Given the description of an element on the screen output the (x, y) to click on. 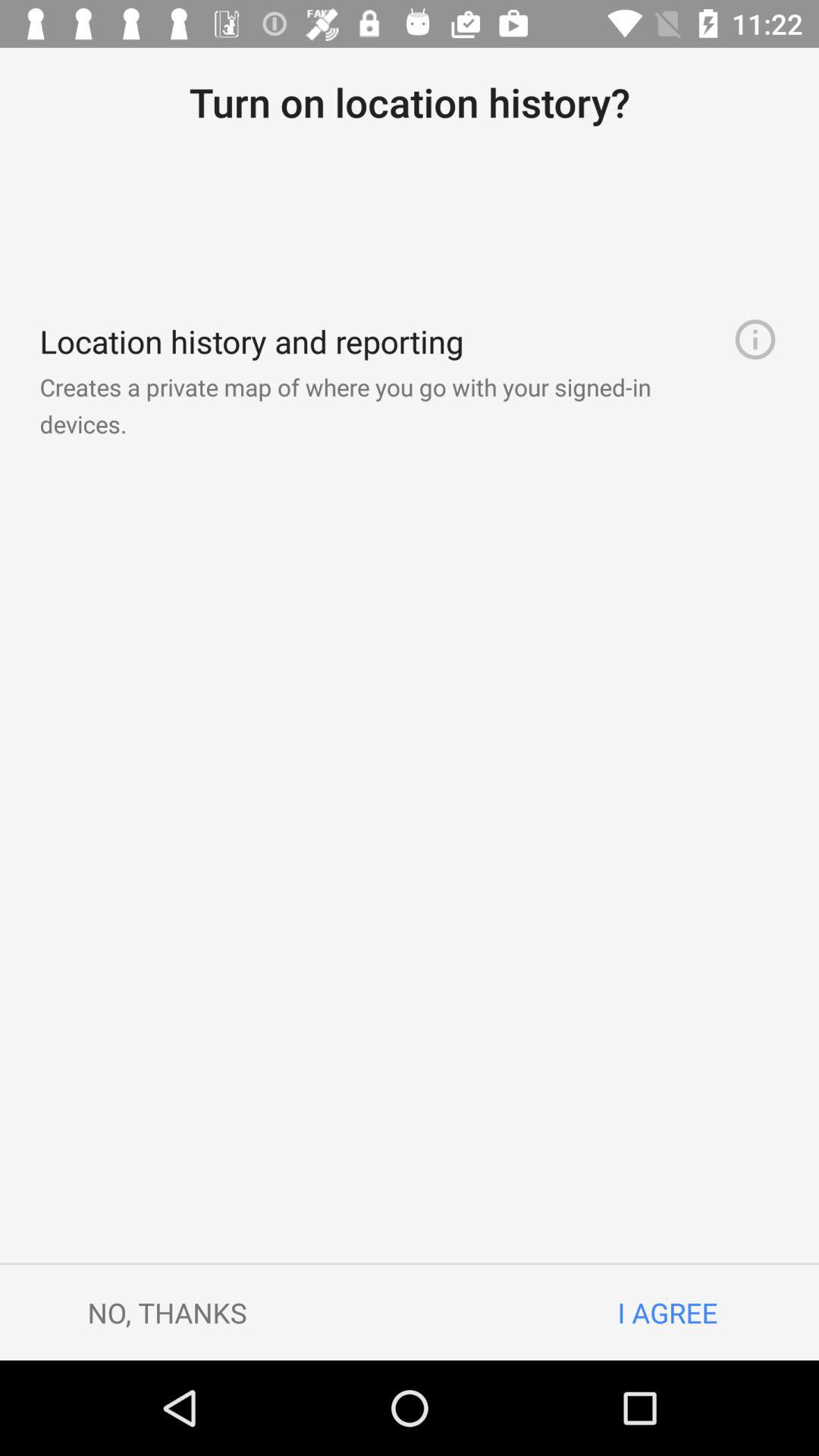
press the i agree item (667, 1312)
